Given the description of an element on the screen output the (x, y) to click on. 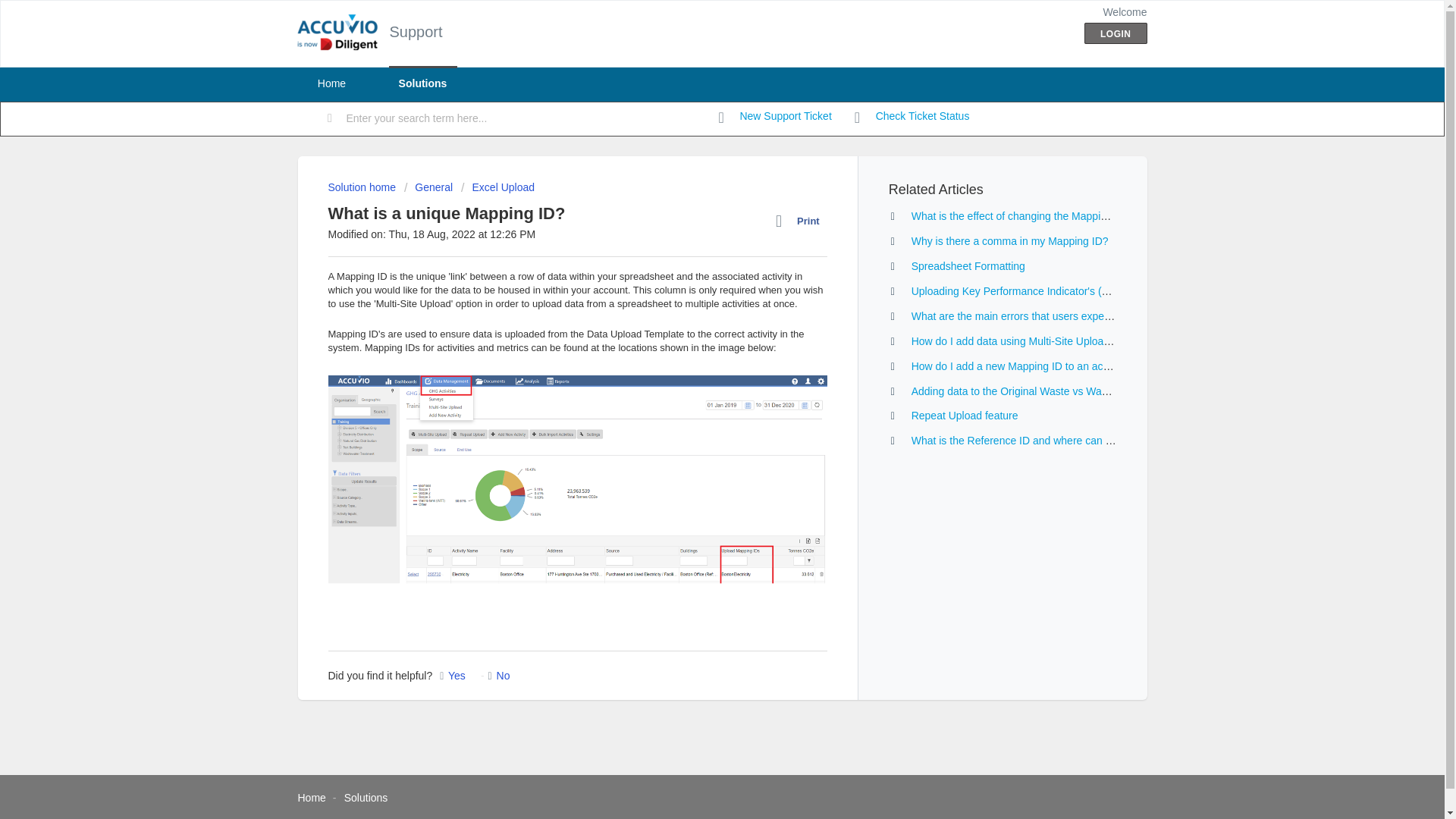
Check ticket status (911, 116)
Solutions (365, 797)
Solutions (422, 83)
How do I add data using Multi-Site Upload function? (1033, 340)
Print this Article (801, 220)
Why is there a comma in my Mapping ID? (1009, 241)
Check Ticket Status (911, 116)
What is the Reference ID and where can I find it? (1026, 440)
Adding data to the Original Waste vs Waste Fraction Modules. (1057, 390)
LOGIN (1115, 33)
Spreadsheet Formatting (968, 265)
Home (310, 797)
What is the effect of changing the Mapping ID? (1021, 215)
Repeat Upload feature (964, 415)
Print (801, 220)
